Given the description of an element on the screen output the (x, y) to click on. 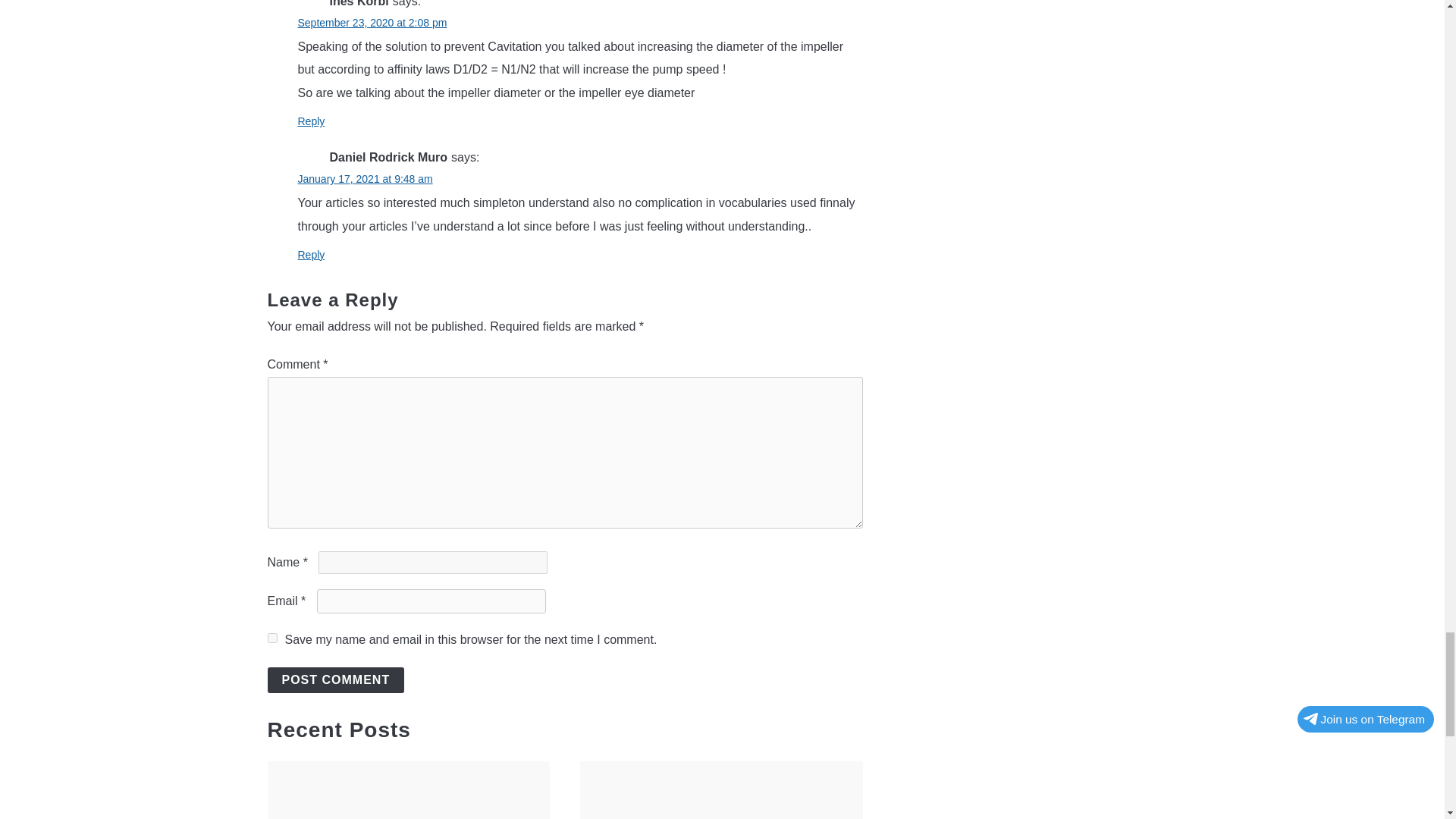
yes (271, 637)
Post Comment (335, 679)
